Given the description of an element on the screen output the (x, y) to click on. 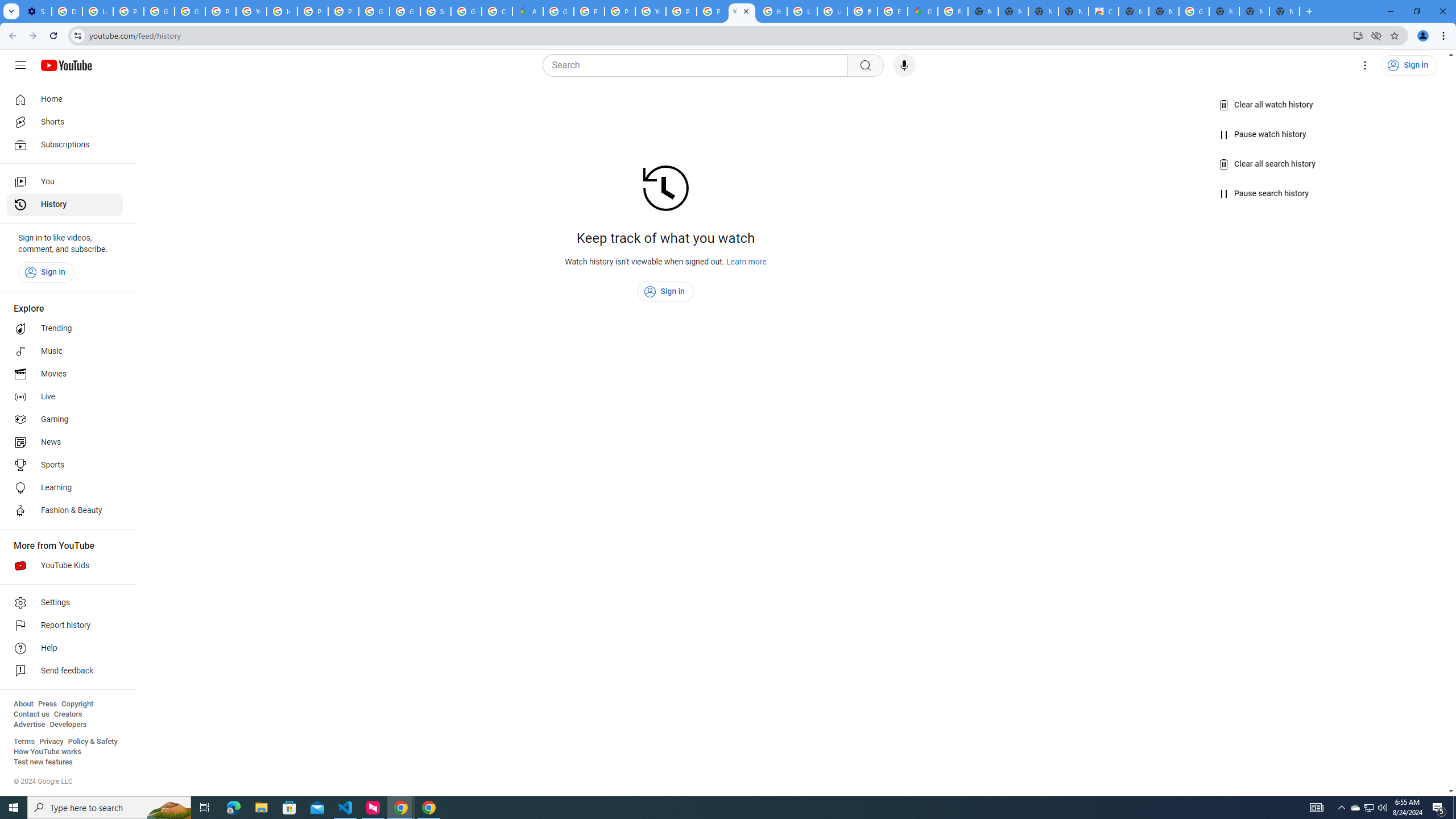
Chrome Web Store (1103, 11)
Google Maps (922, 11)
Sign in - Google Accounts (434, 11)
Explore new street-level details - Google Maps Help (892, 11)
Music (64, 350)
Google Account Help (158, 11)
Google Images (1193, 11)
Developers (68, 724)
Search with your voice (903, 65)
YouTube Home (66, 65)
Guide (20, 65)
Subscriptions (64, 144)
How Chrome protects your passwords - Google Chrome Help (771, 11)
